Given the description of an element on the screen output the (x, y) to click on. 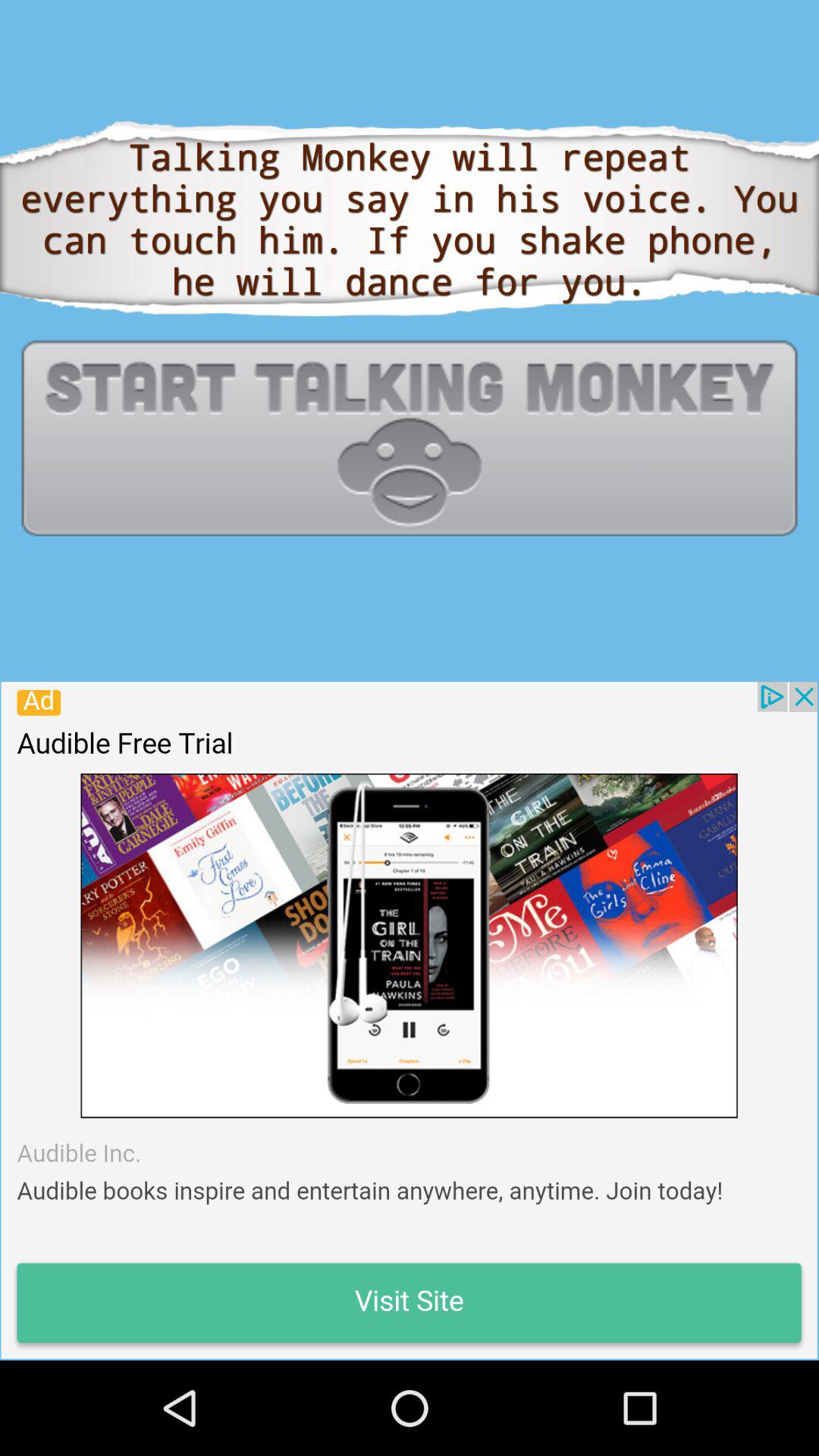
start program (409, 437)
